Given the description of an element on the screen output the (x, y) to click on. 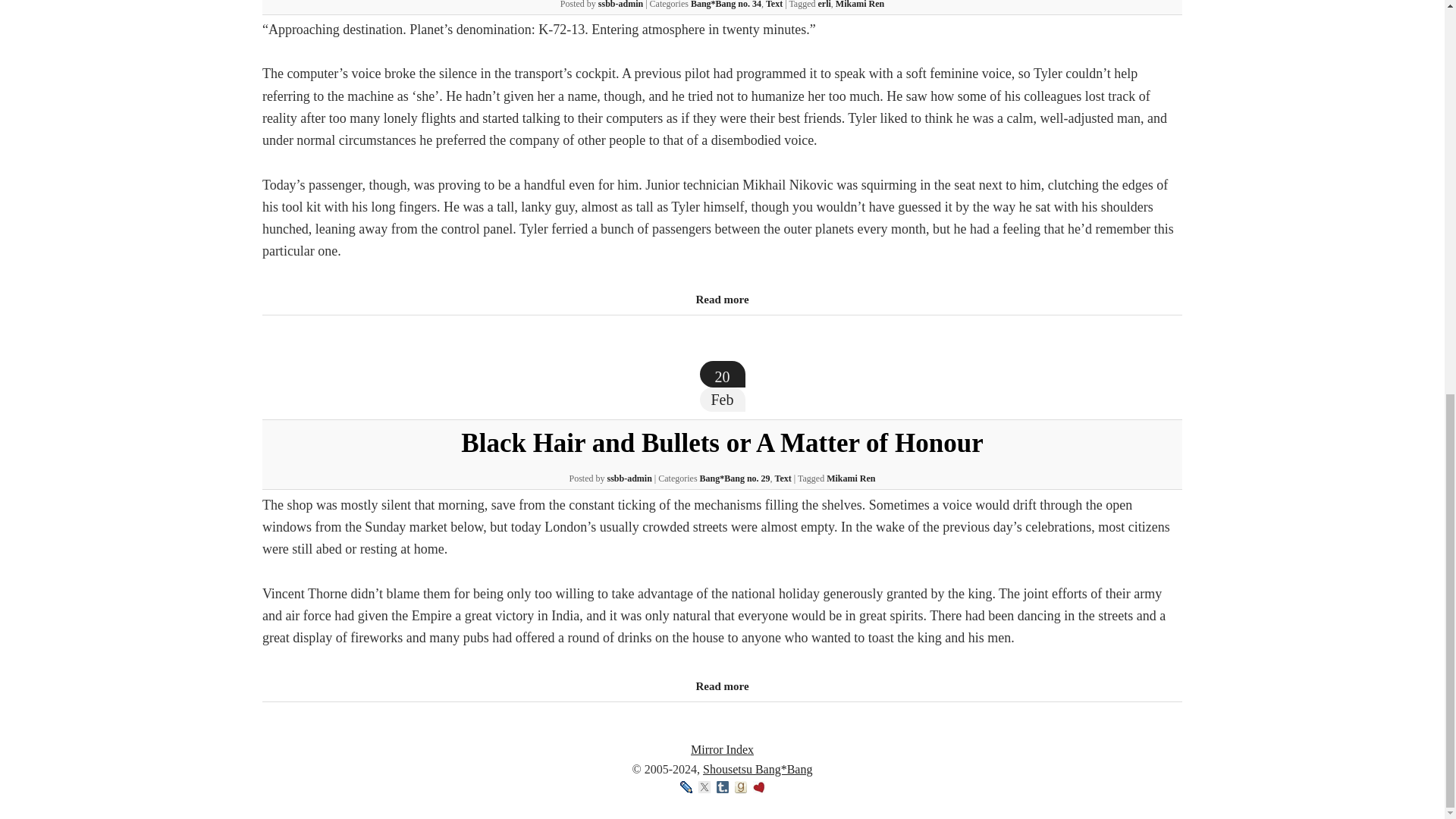
Mikami Ren (851, 478)
Black Hair and Bullets or A Matter of Honour (721, 686)
View all posts by ssbb-admin (620, 4)
erli (824, 4)
Text (774, 4)
Black Hair and Bullets or A Matter of Honour (721, 442)
Green Planet (721, 299)
ssbb-admin (620, 4)
Text (783, 478)
View all posts by ssbb-admin (628, 478)
